Given the description of an element on the screen output the (x, y) to click on. 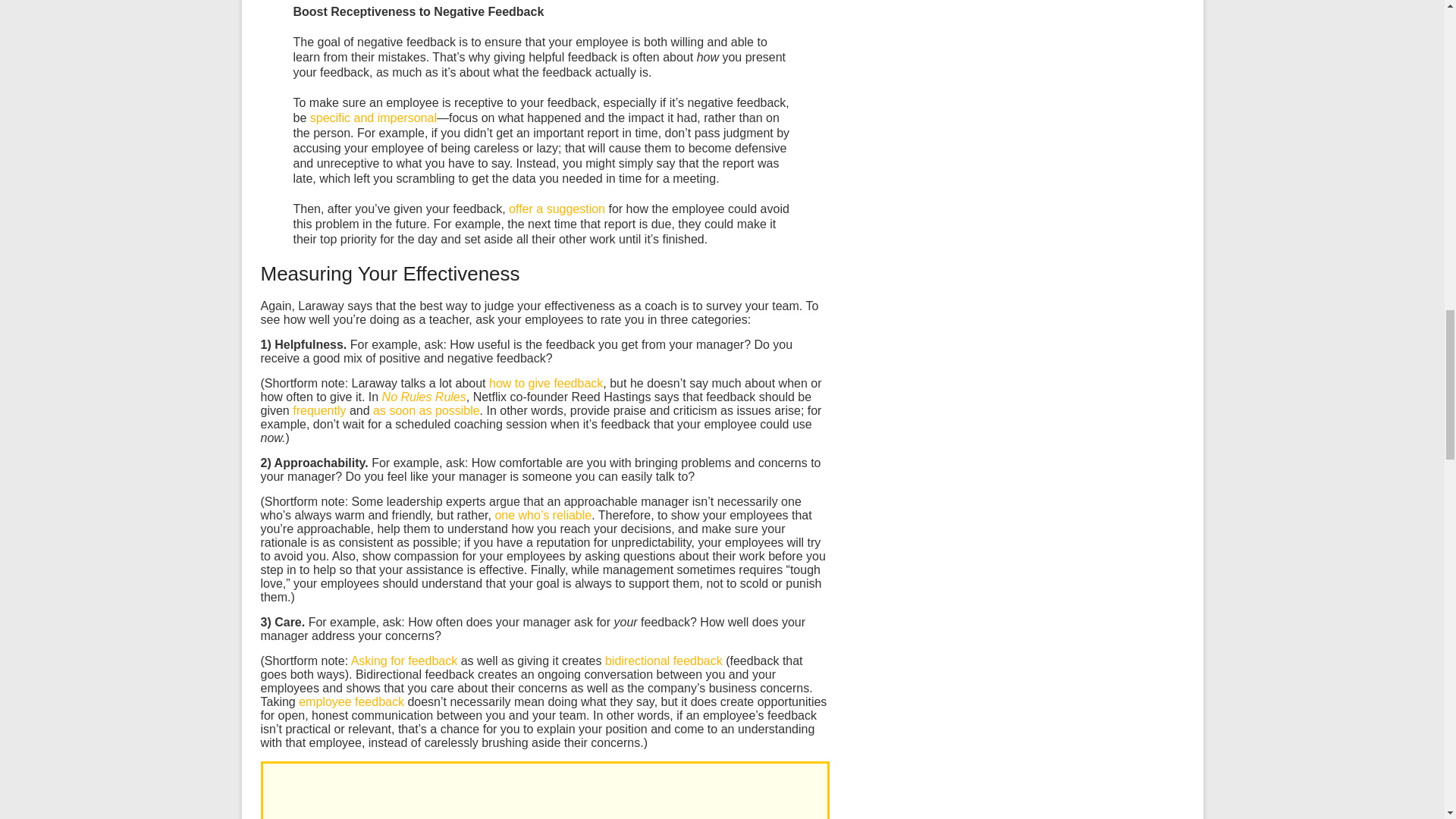
bidirectional feedback (663, 660)
frequently (319, 410)
as soon as possible (426, 410)
specific and impersonal (373, 117)
employee feedback (351, 701)
Asking for feedback (404, 660)
how to give feedback (545, 382)
No Rules Rules (423, 396)
offer a suggestion (556, 208)
